Given the description of an element on the screen output the (x, y) to click on. 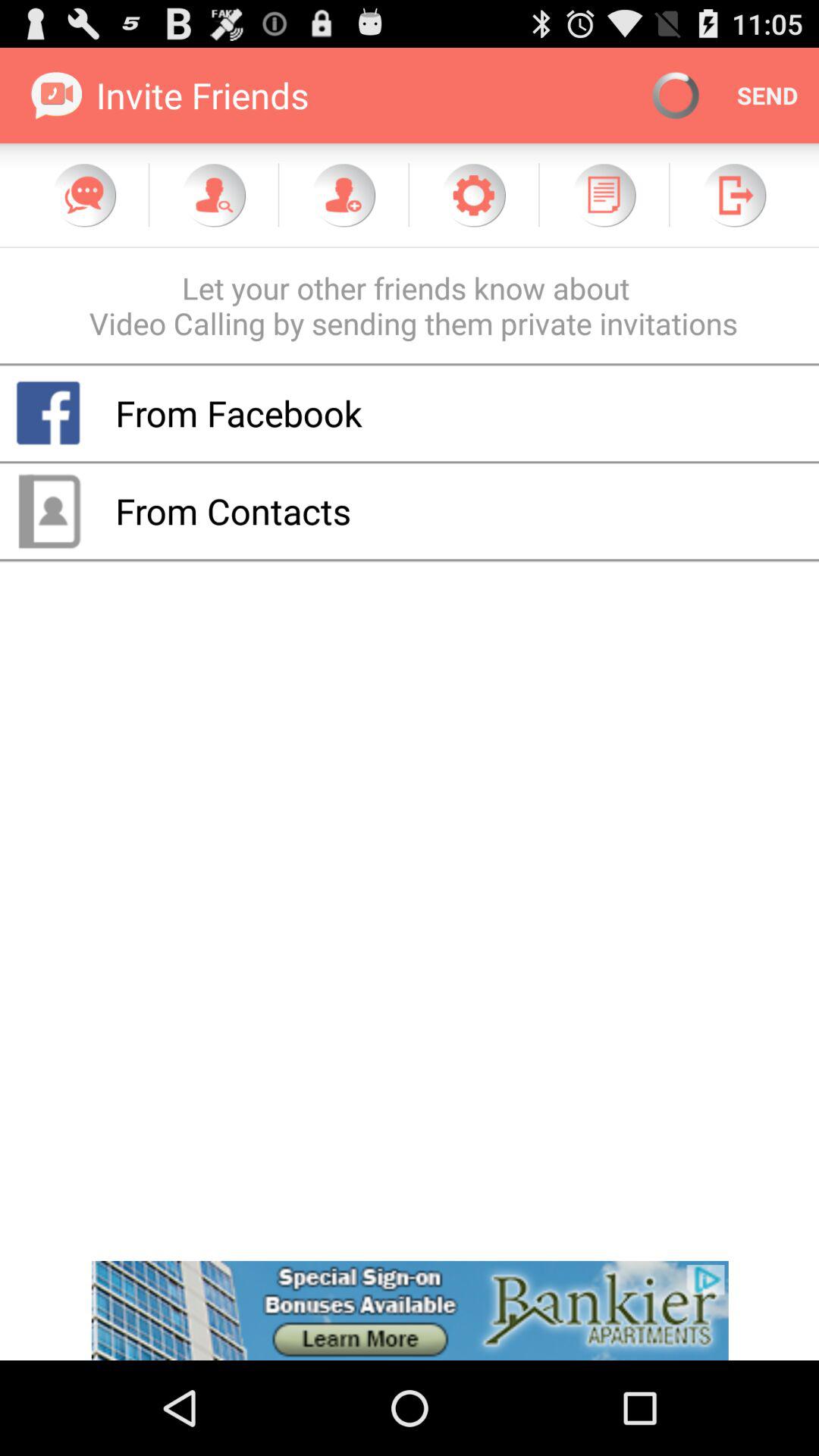
file copy option (603, 194)
